Given the description of an element on the screen output the (x, y) to click on. 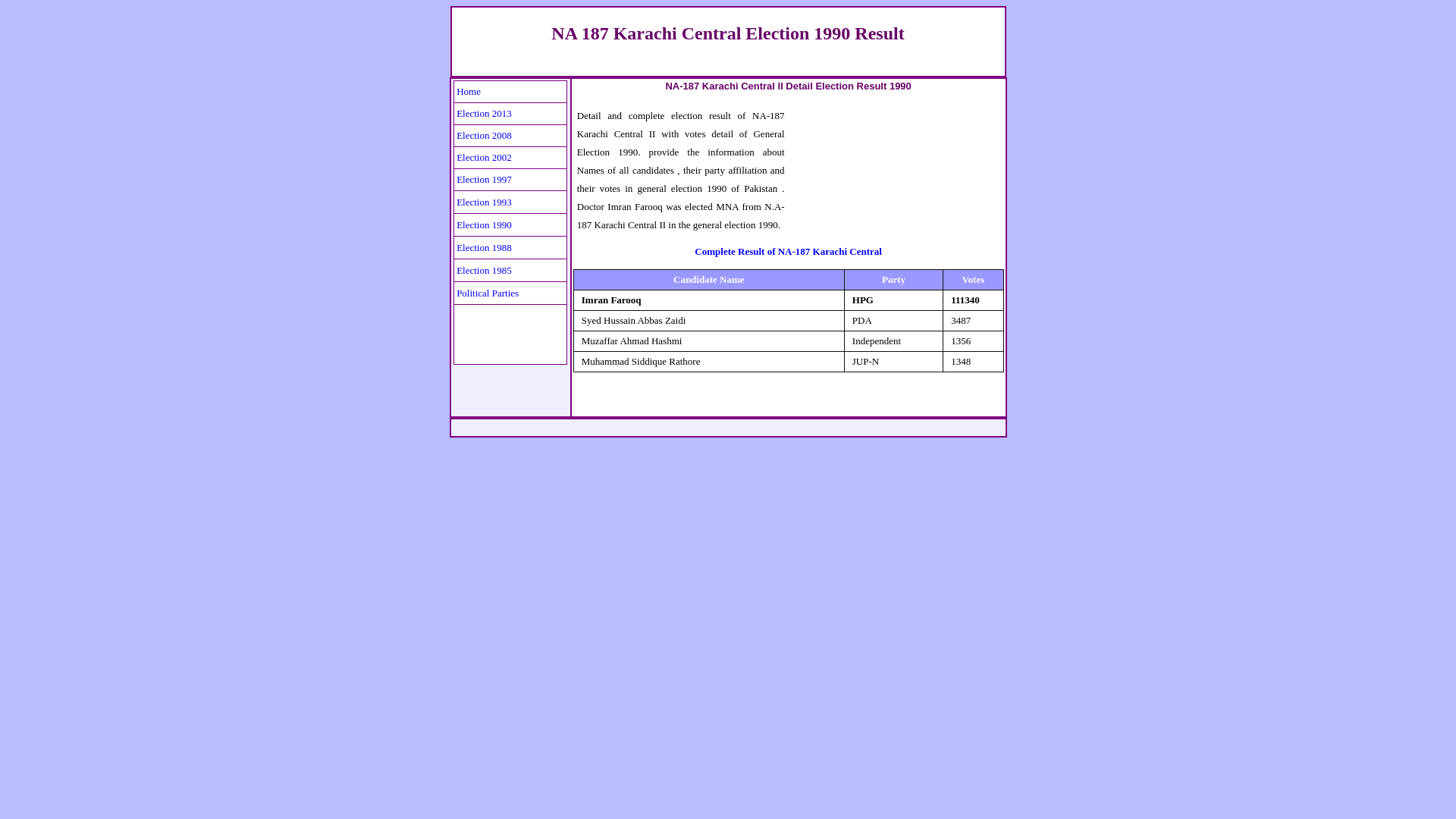
Home (468, 91)
Election 1988 (484, 245)
Election 1993 (484, 200)
Election 2008 (484, 134)
Political Parties (487, 291)
Election 2002 (484, 155)
Election 2013 (484, 112)
Election 1997 (484, 178)
Election 1985 (484, 268)
Election 1990 (484, 223)
